Given the description of an element on the screen output the (x, y) to click on. 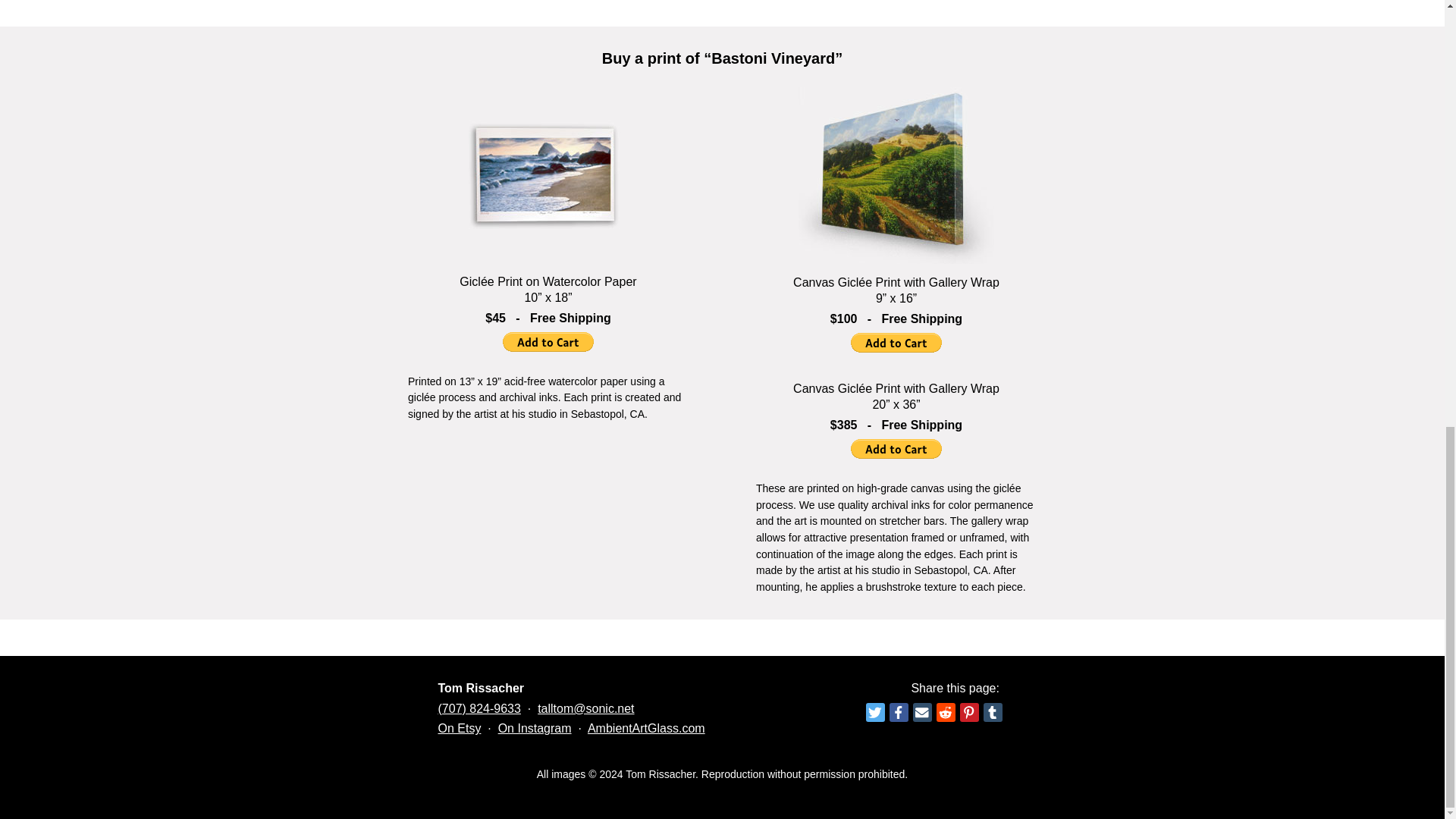
On Etsy (459, 727)
Share on Tumblr (991, 711)
Share on Pinterest (968, 711)
Add to Cart (896, 448)
On Instagram (534, 727)
Share on Reddit (945, 711)
AmbientArtGlass.com (646, 727)
Share via email (921, 711)
Add to Cart (896, 342)
Share on Facebook (897, 711)
Add to Cart (548, 342)
Share on Twitter (875, 711)
